Given the description of an element on the screen output the (x, y) to click on. 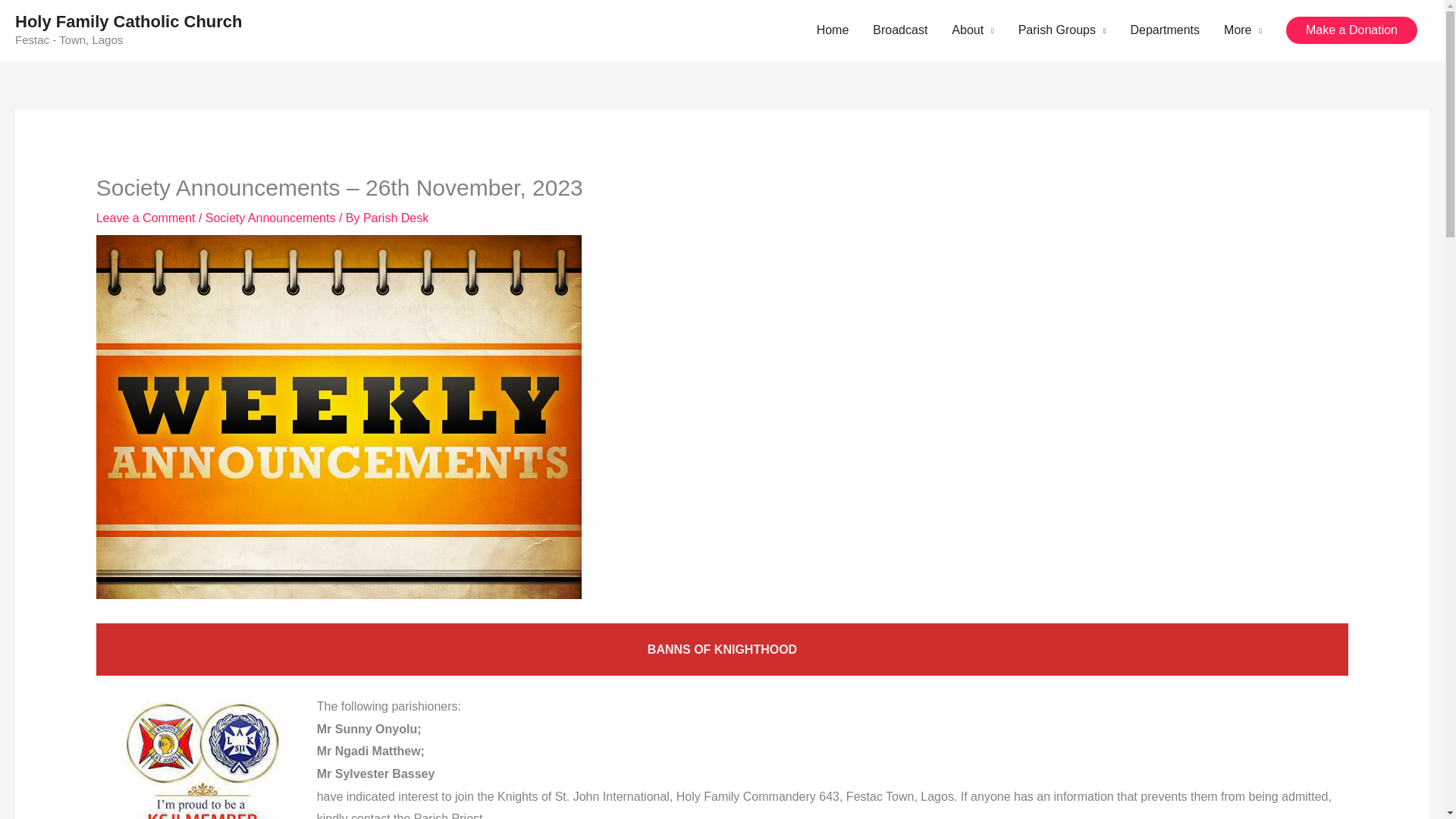
About (972, 30)
Broadcast (899, 30)
Society Announcements (270, 217)
Home (833, 30)
Leave a Comment (145, 217)
Departments (1164, 30)
Holy Family Catholic Church (128, 21)
View all posts by Parish Desk (395, 217)
Parish Groups (1062, 30)
More (1242, 30)
Make a Donation (1350, 30)
Parish Desk (395, 217)
